Given the description of an element on the screen output the (x, y) to click on. 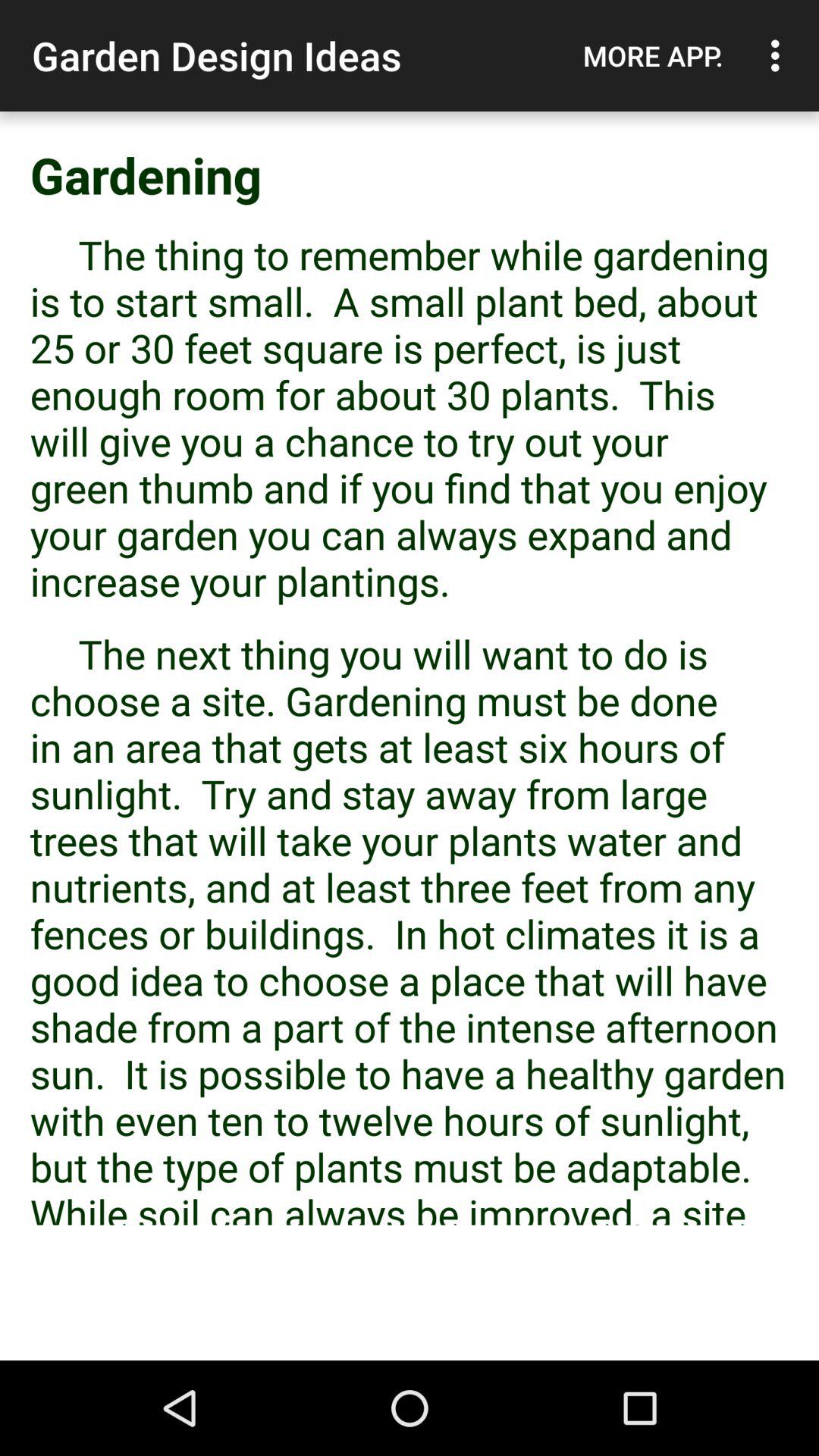
launch the app above the gardening (653, 55)
